Given the description of an element on the screen output the (x, y) to click on. 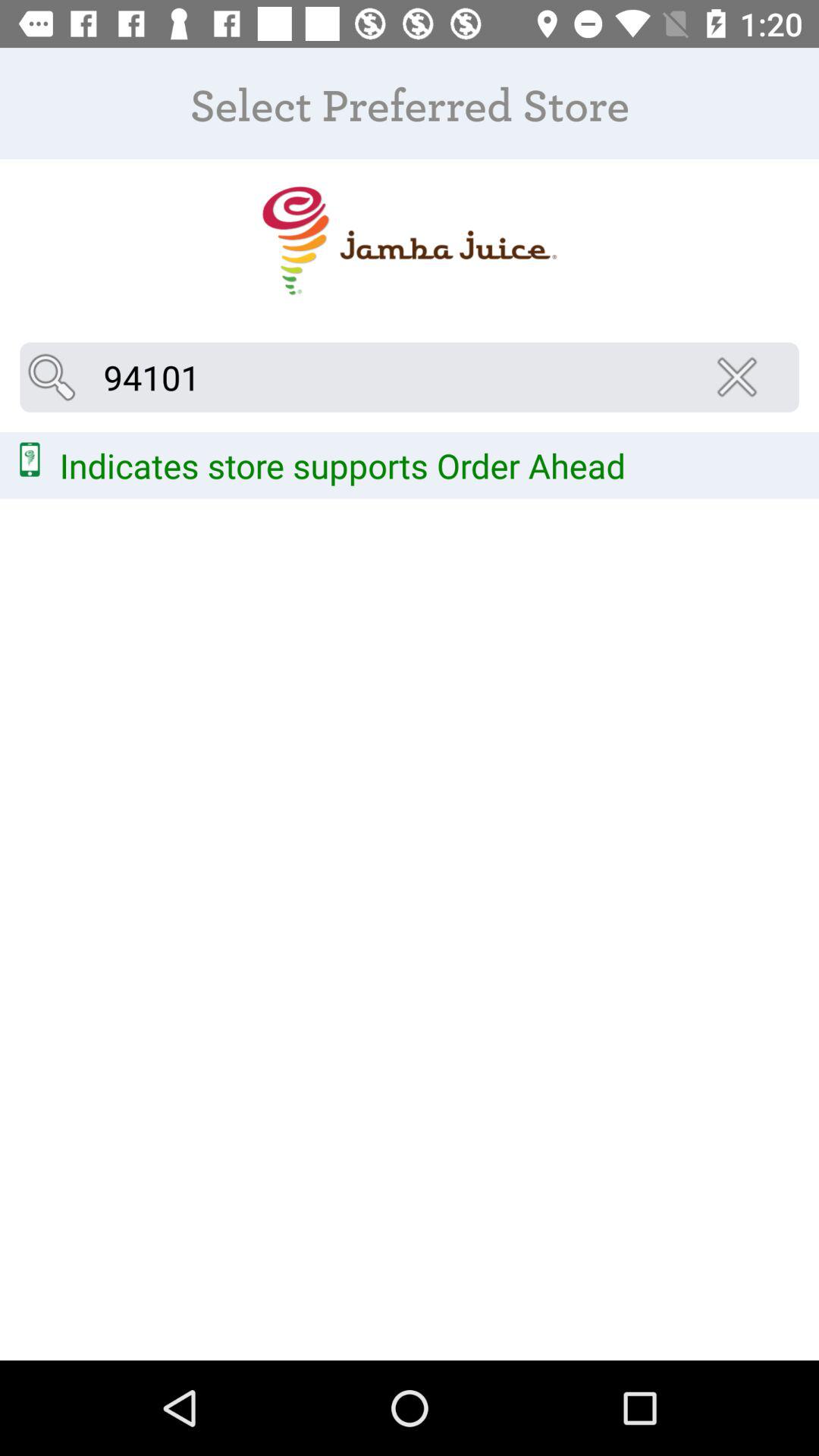
delete (742, 376)
